Given the description of an element on the screen output the (x, y) to click on. 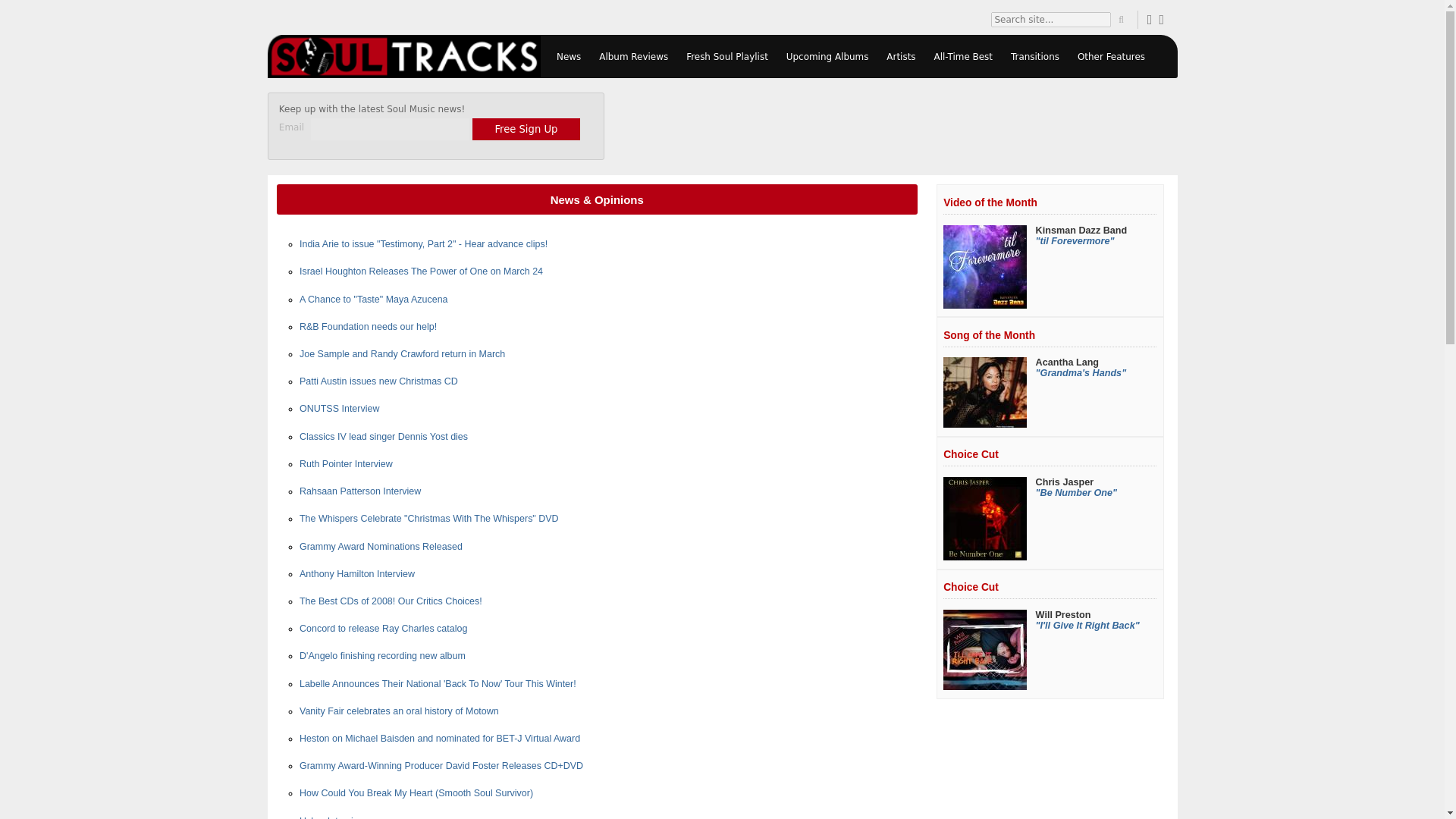
Anthony Hamilton Interview (356, 573)
Album Reviews (633, 56)
Free Sign Up (525, 128)
Rahsaan Patterson Interview (359, 491)
ONUTSS Interview (338, 408)
News (568, 56)
Ruth Pointer Interview (346, 463)
All-Time Best (962, 56)
Classics IV lead singer Dennis Yost dies (383, 436)
Free Sign Up (525, 128)
Artists (900, 56)
Home (403, 56)
Patti Austin issues new Christmas CD (378, 380)
Concord to release Ray Charles catalog (383, 628)
A Chance to "Taste" Maya Azucena (373, 299)
